Given the description of an element on the screen output the (x, y) to click on. 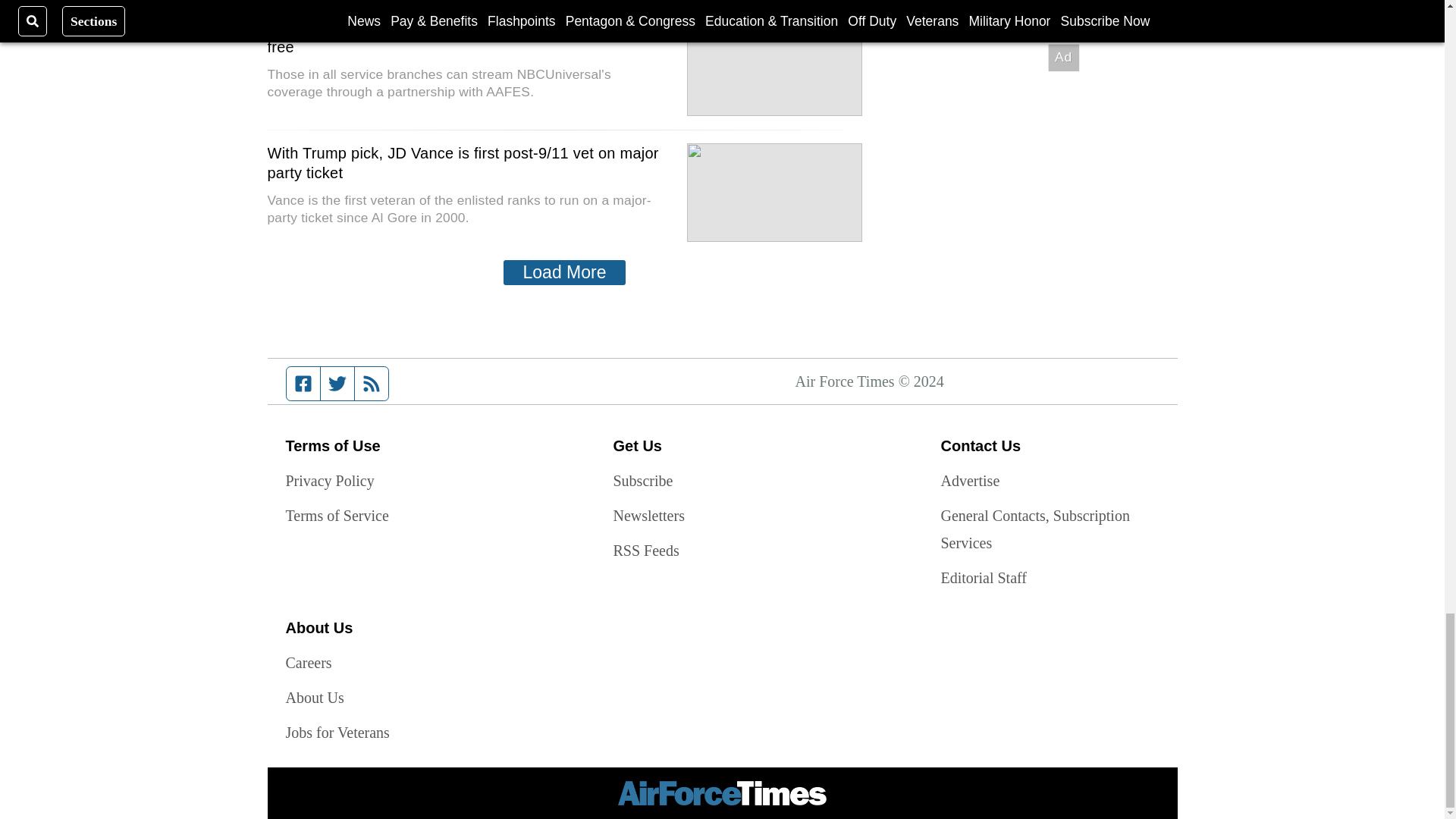
Twitter feed (336, 383)
RSS feed (371, 383)
Facebook page (303, 383)
